Given the description of an element on the screen output the (x, y) to click on. 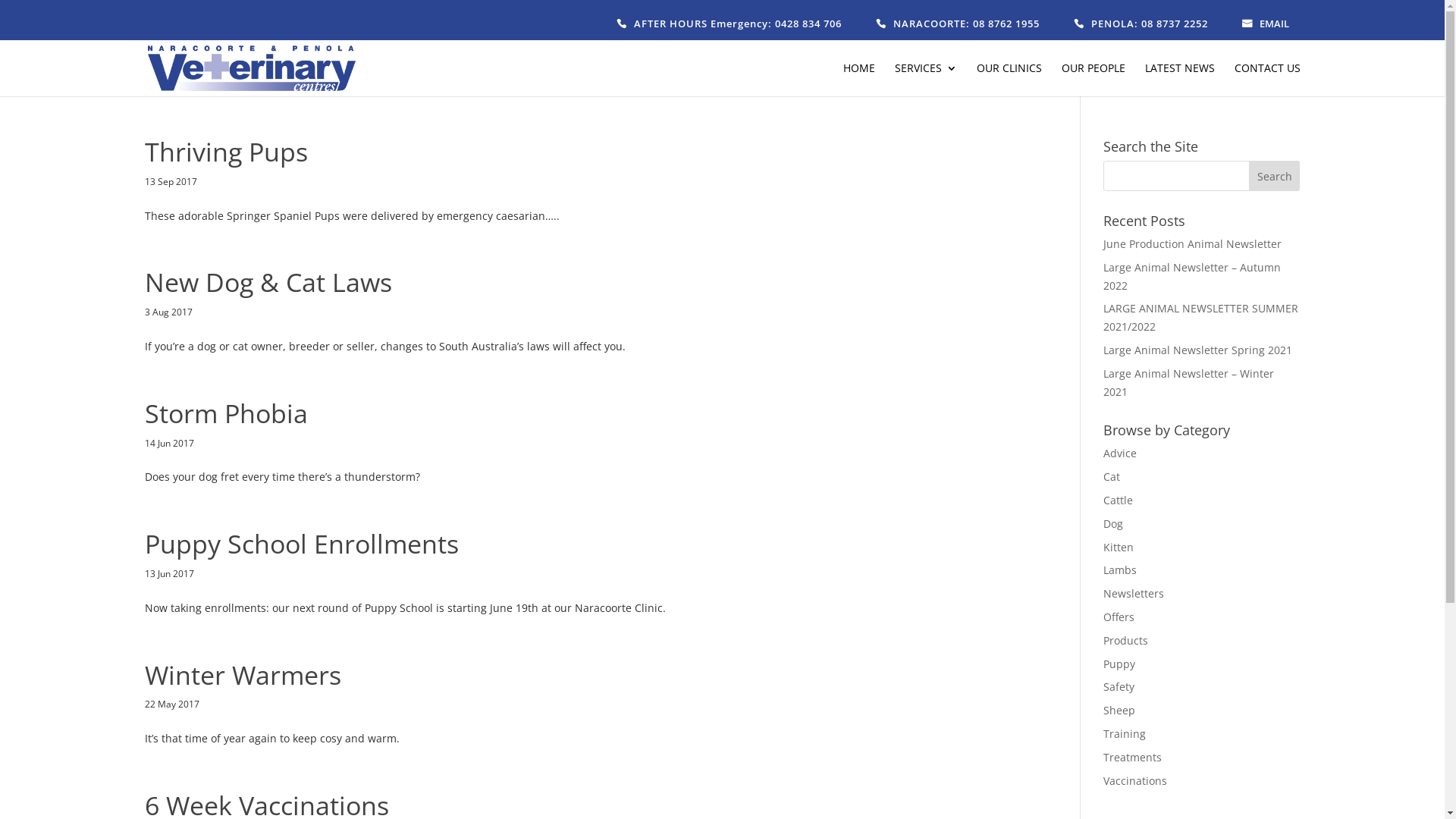
AFTER HOURS Emergency: 0428 834 706 Element type: text (729, 23)
Safety Element type: text (1118, 686)
OUR CLINICS Element type: text (1008, 79)
Advice Element type: text (1119, 452)
Newsletters Element type: text (1133, 593)
New Dog & Cat Laws Element type: text (267, 281)
June Production Animal Newsletter Element type: text (1192, 243)
Cat Element type: text (1111, 476)
SERVICES Element type: text (925, 79)
Winter Warmers Element type: text (242, 674)
Storm Phobia Element type: text (225, 412)
Sheep Element type: text (1119, 709)
Puppy School Enrollments Element type: text (301, 543)
HOME Element type: text (859, 79)
Puppy Element type: text (1119, 663)
Lambs Element type: text (1119, 569)
LATEST NEWS Element type: text (1179, 79)
Training Element type: text (1124, 733)
Dog Element type: text (1113, 523)
CONTACT US Element type: text (1267, 79)
Vaccinations Element type: text (1135, 780)
OUR PEOPLE Element type: text (1093, 79)
Products Element type: text (1125, 640)
Cattle Element type: text (1117, 499)
Large Animal Newsletter Spring 2021 Element type: text (1197, 349)
Offers Element type: text (1118, 616)
Kitten Element type: text (1118, 546)
Treatments Element type: text (1132, 756)
Thriving Pups Element type: text (225, 151)
EMAIL Element type: text (1266, 23)
Search Element type: text (1274, 175)
NARACOORTE: 08 8762 1955 Element type: text (958, 23)
PENOLA: 08 8737 2252 Element type: text (1141, 23)
LARGE ANIMAL NEWSLETTER SUMMER 2021/2022 Element type: text (1200, 317)
